Given the description of an element on the screen output the (x, y) to click on. 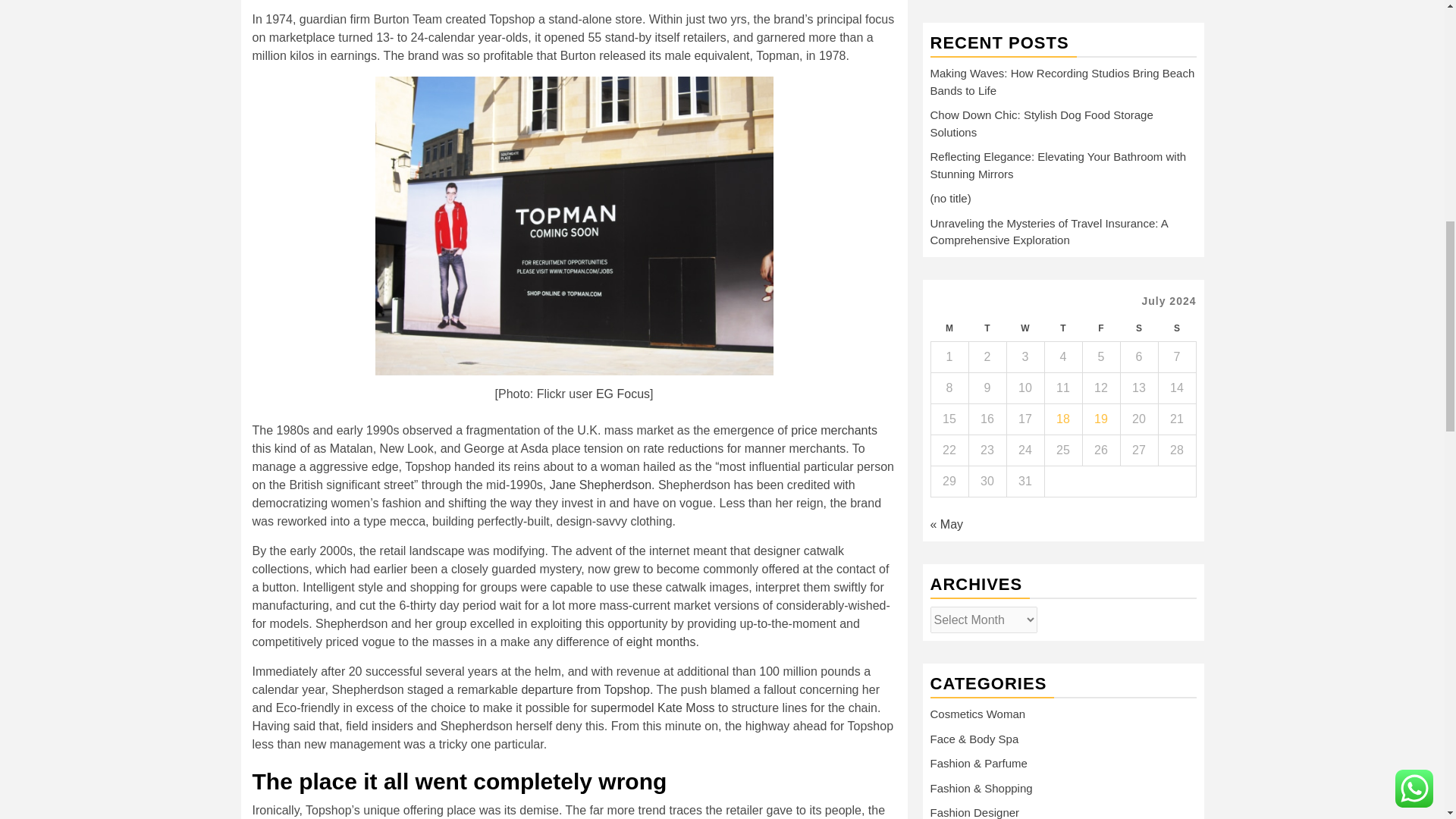
eight months (660, 641)
price merchants (833, 429)
The fall of Topshop (573, 225)
EG Focus (622, 392)
departure from Topshop (585, 688)
Seedbacklink (943, 691)
supermodel Kate Moss (652, 707)
Jane Shepherdson (600, 483)
